Given the description of an element on the screen output the (x, y) to click on. 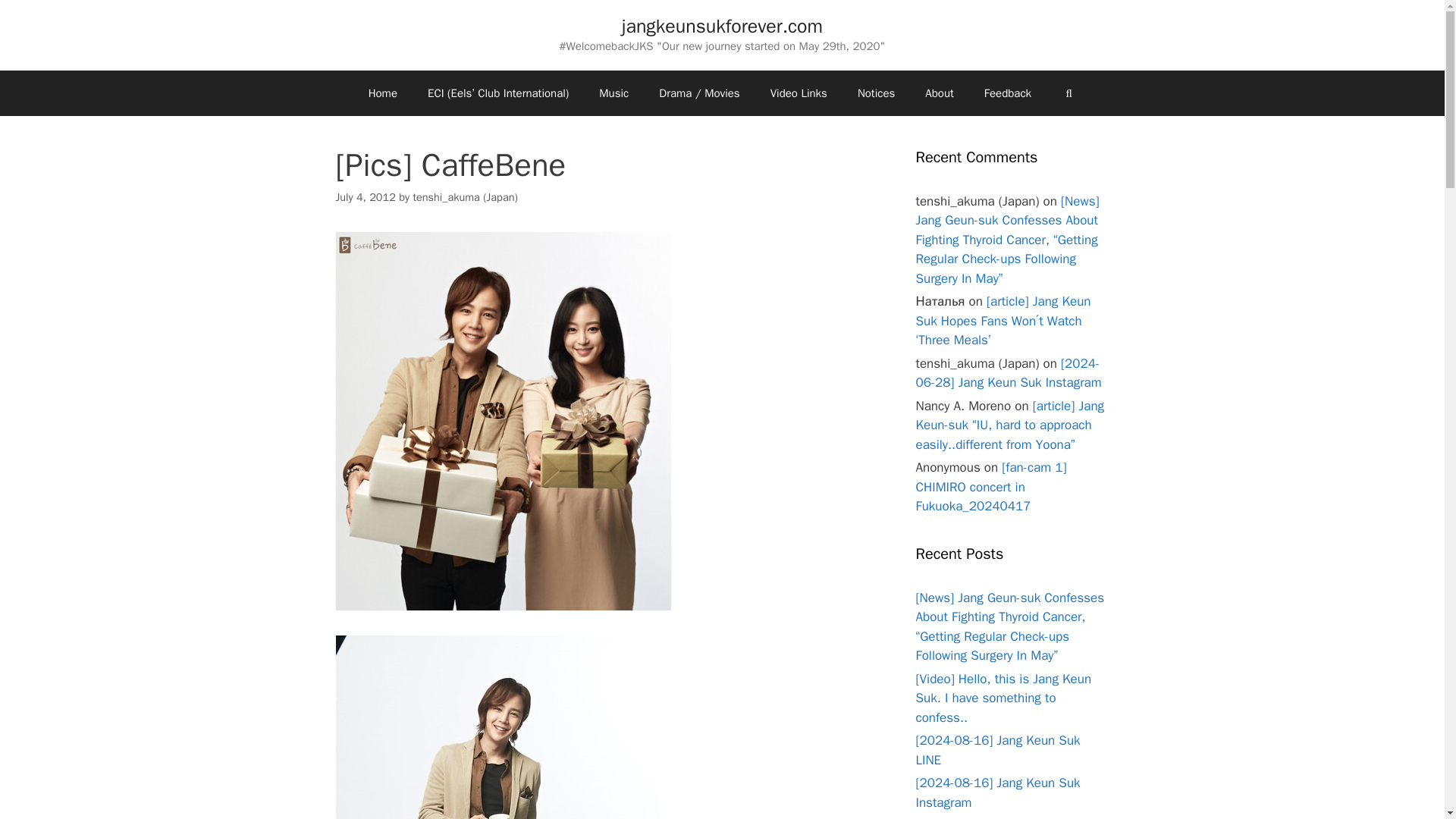
Video Links (799, 92)
jangkeunsukforever.com (721, 25)
About (939, 92)
Music (613, 92)
Home (382, 92)
Home (382, 92)
Feedback (1007, 92)
Notices (876, 92)
